Given the description of an element on the screen output the (x, y) to click on. 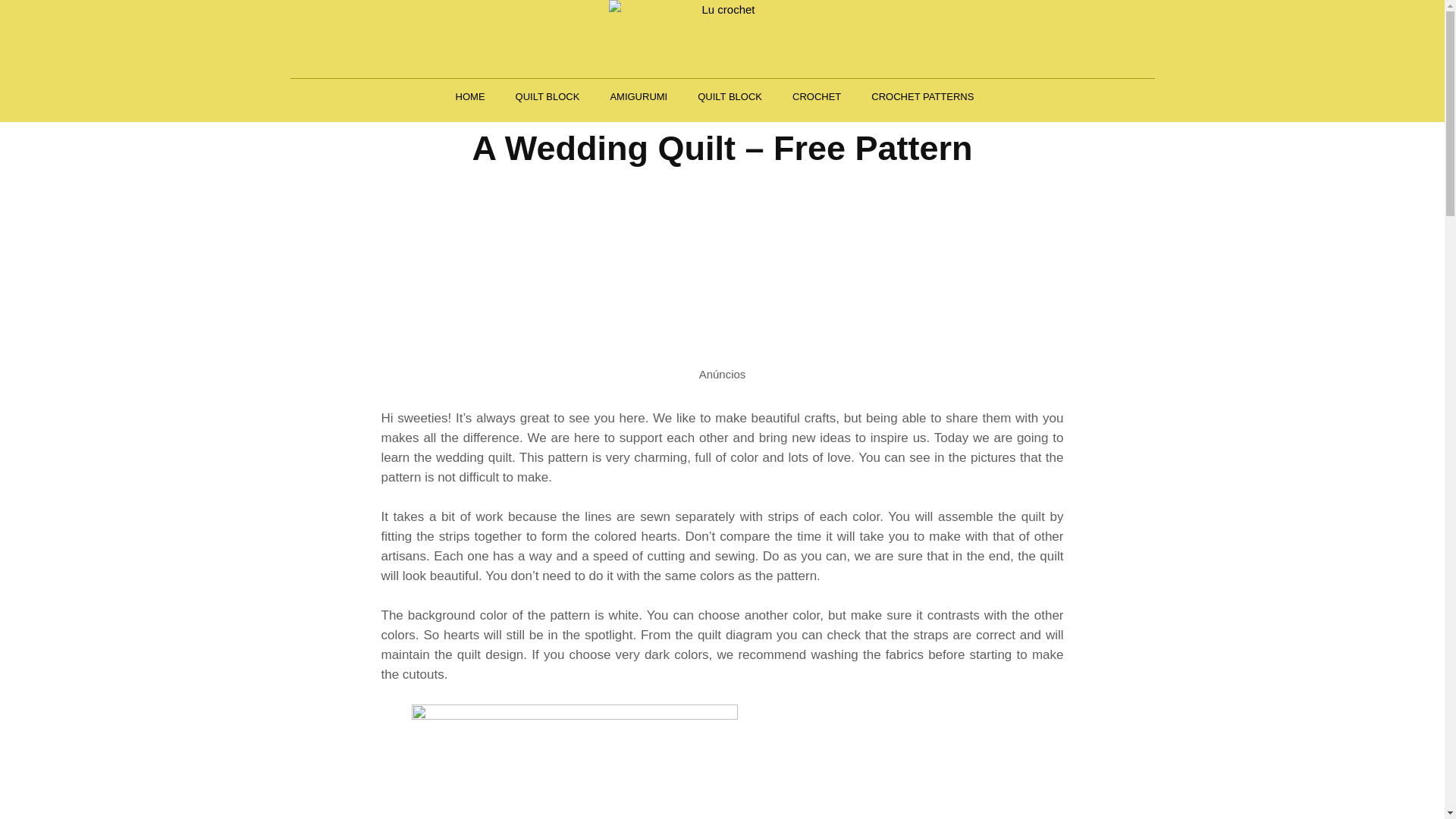
Homepage (721, 38)
QUILT BLOCK (730, 96)
CROCHET PATTERNS (922, 96)
QUILT BLOCK (548, 96)
HOME (470, 96)
AMIGURUMI (638, 96)
CROCHET (816, 96)
